Given the description of an element on the screen output the (x, y) to click on. 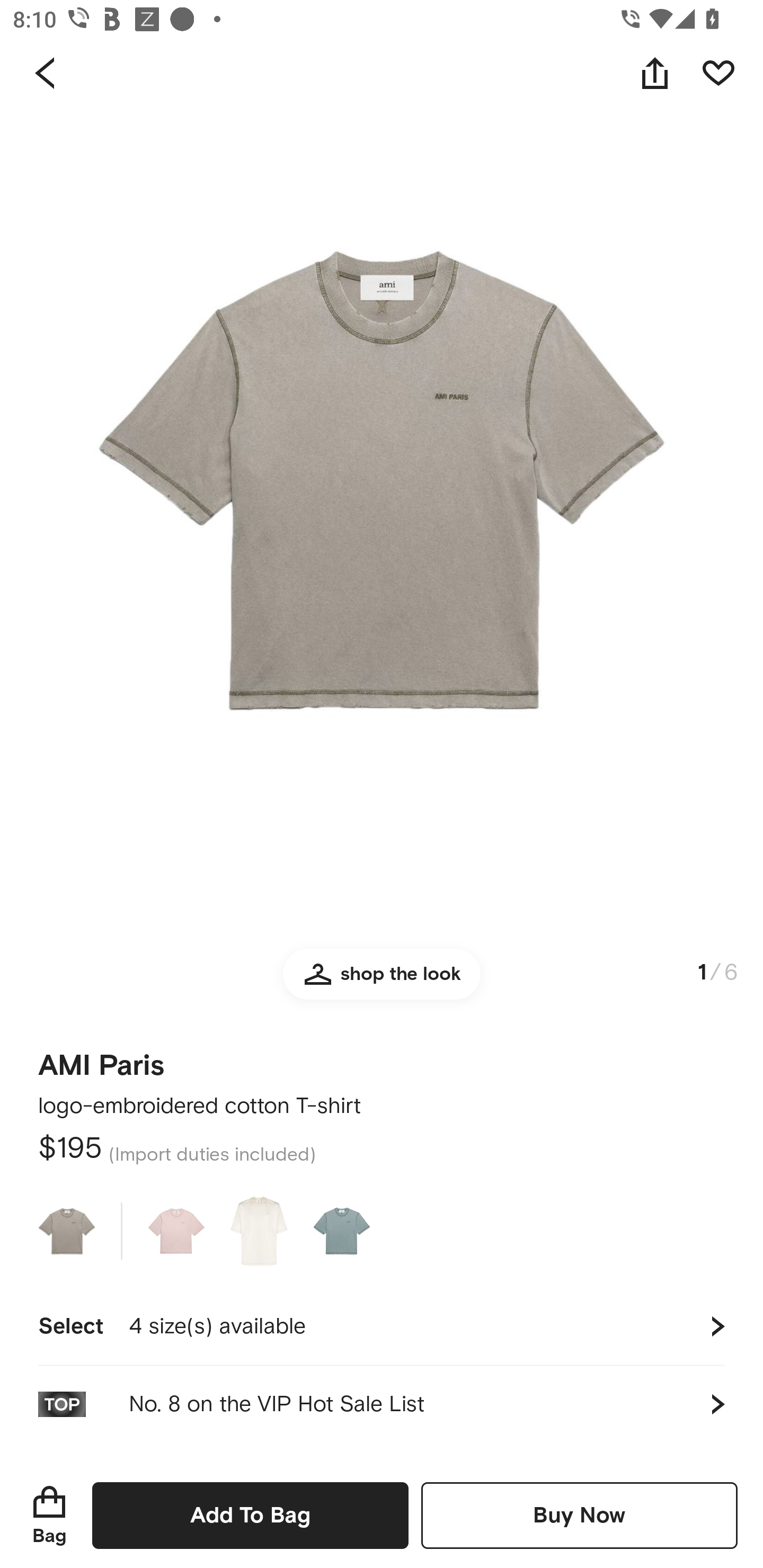
shop the look (381, 982)
AMI Paris (101, 1059)
Select 4 size(s) available (381, 1326)
No. 8 on the VIP Hot Sale List (381, 1403)
Bag (49, 1515)
Add To Bag (250, 1515)
Buy Now (579, 1515)
